Given the description of an element on the screen output the (x, y) to click on. 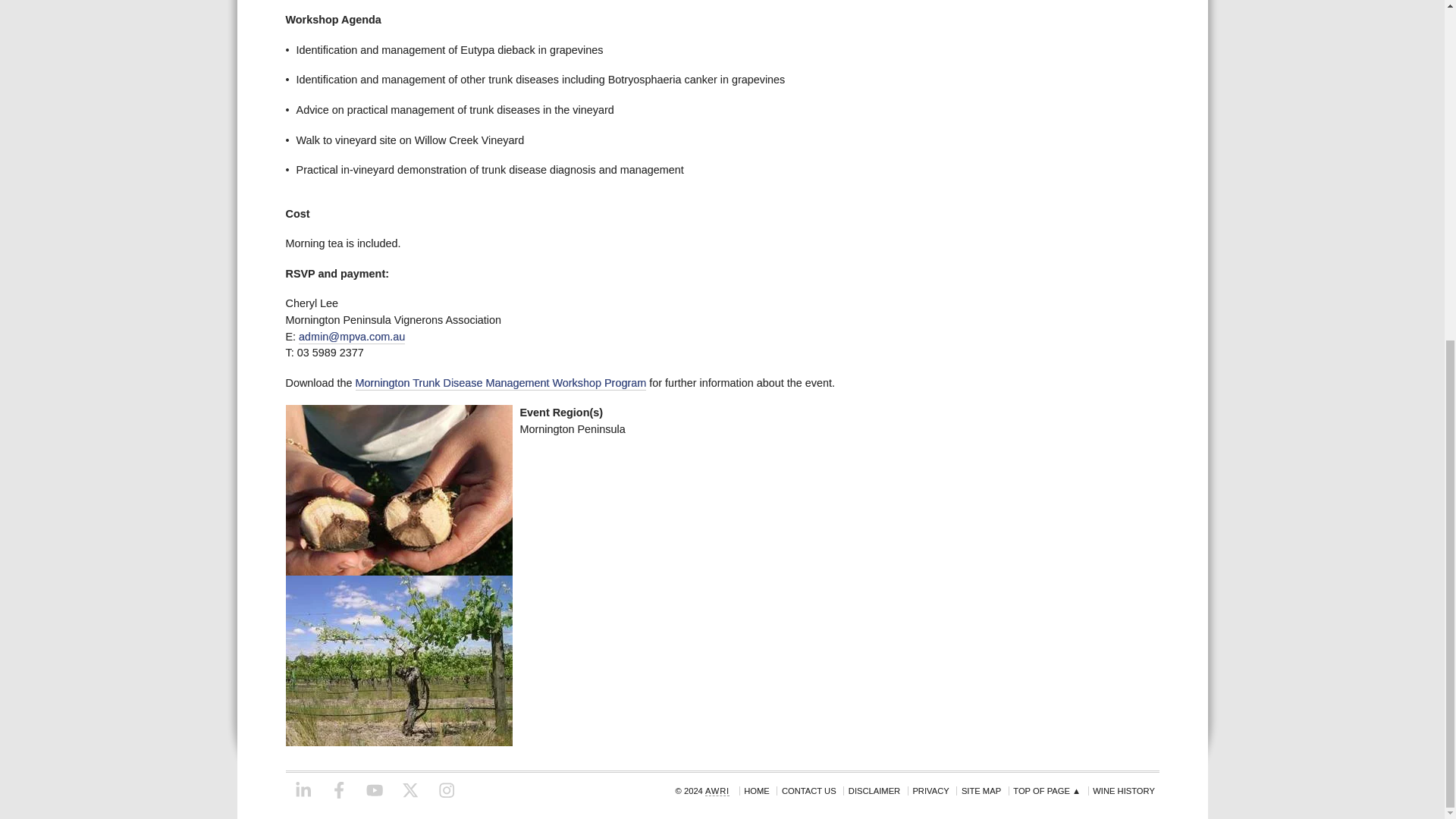
The Australian Wine Research Institute (716, 791)
